Given the description of an element on the screen output the (x, y) to click on. 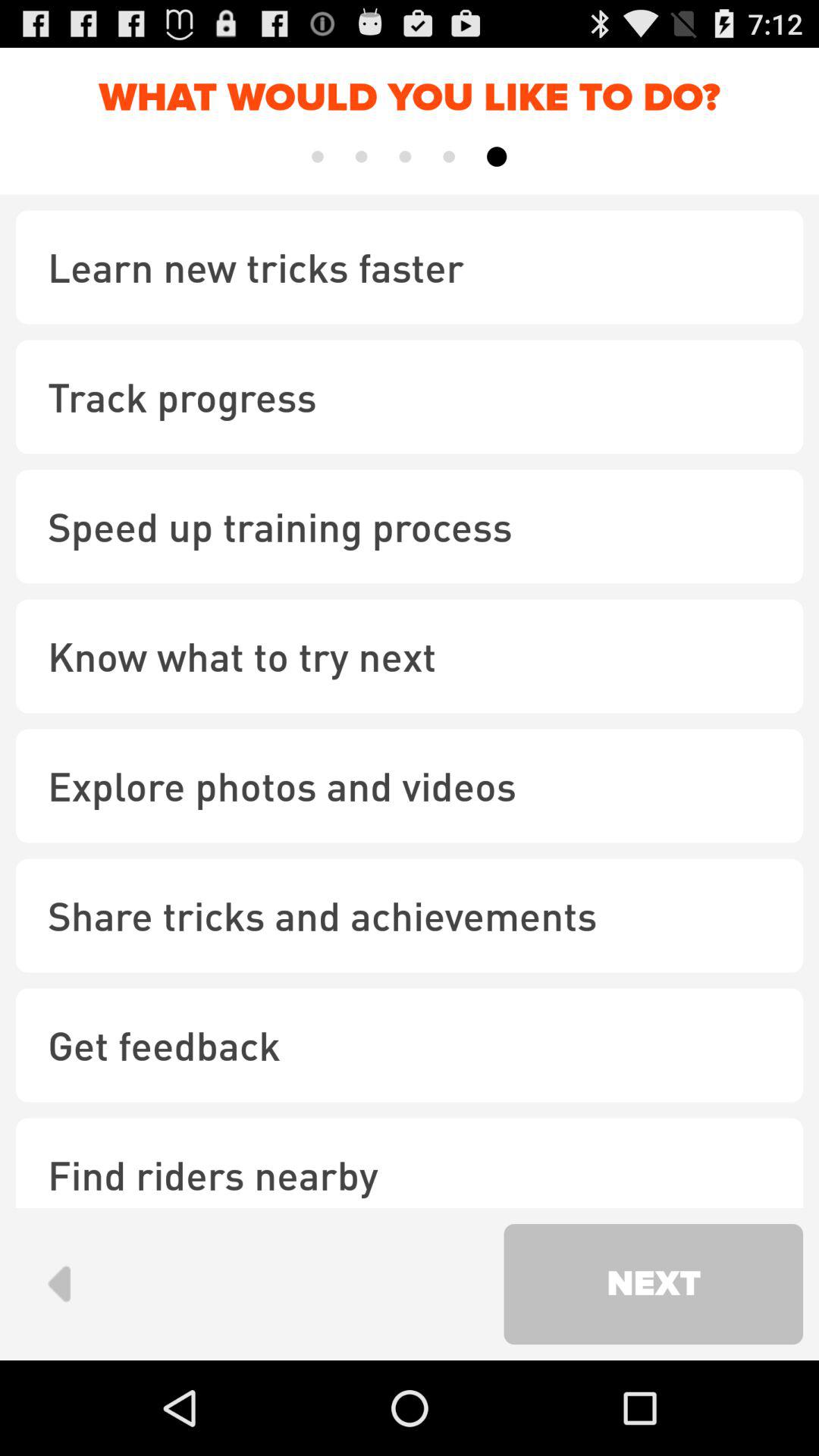
flip until the find riders nearby checkbox (409, 1163)
